Given the description of an element on the screen output the (x, y) to click on. 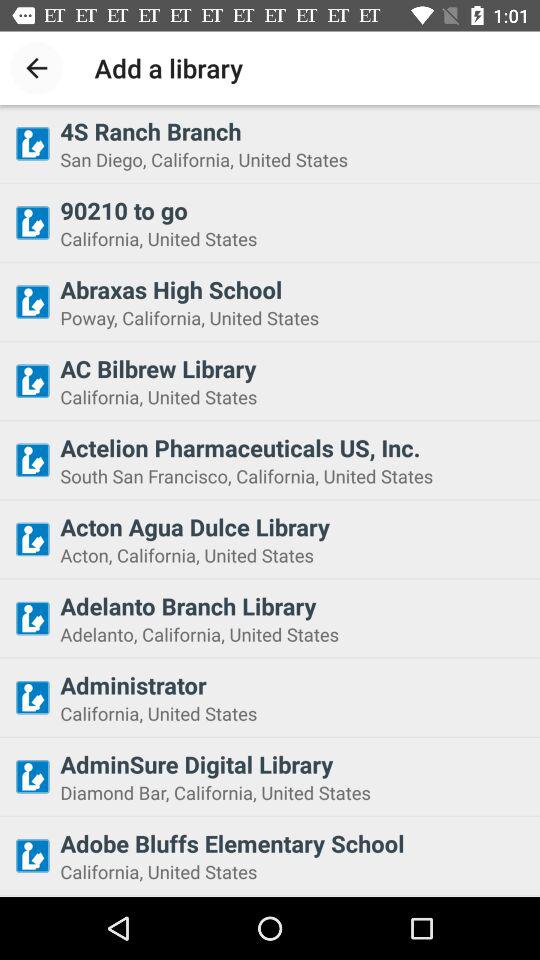
open the icon below south san francisco item (294, 527)
